Given the description of an element on the screen output the (x, y) to click on. 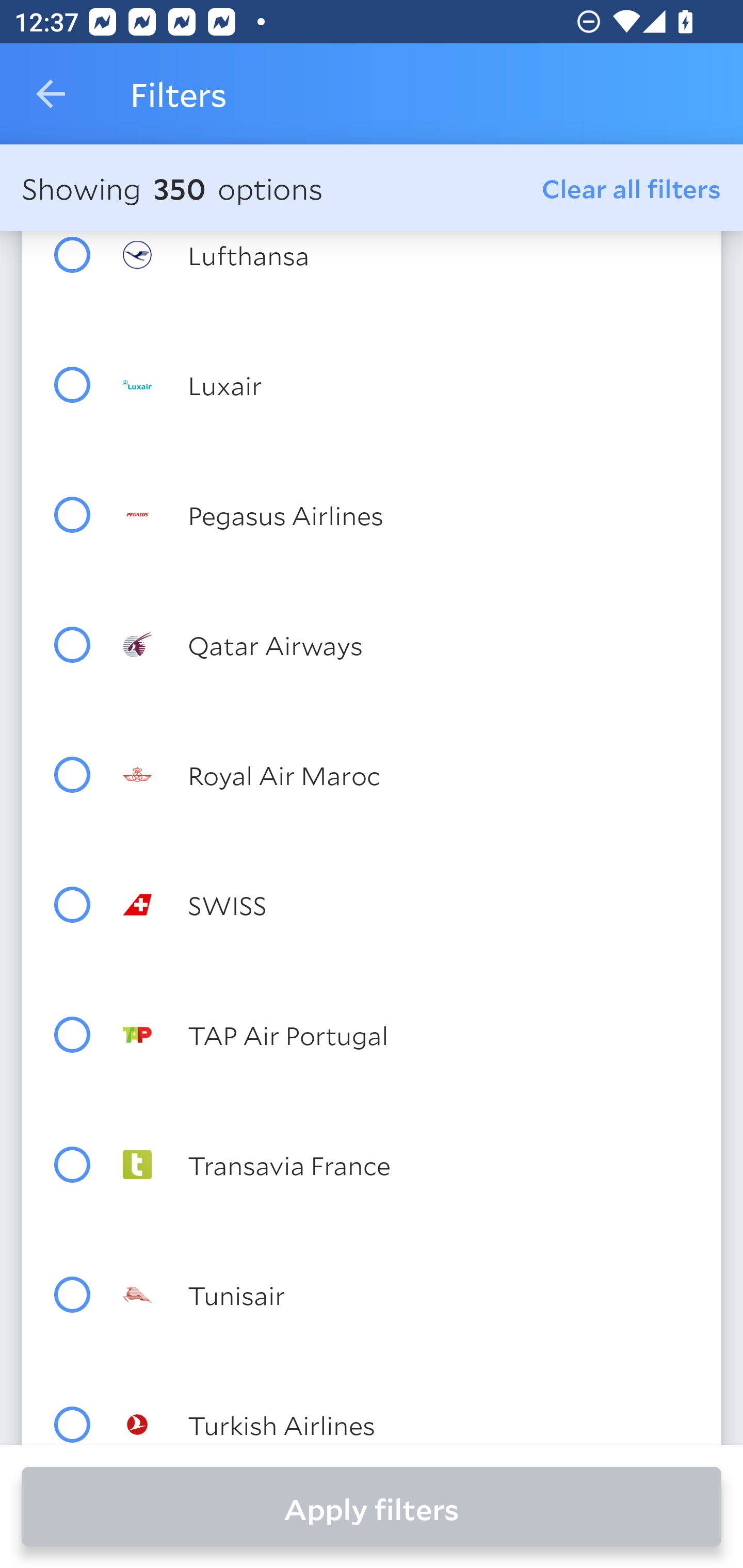
Navigate up (50, 93)
Clear all filters (631, 187)
Lufthansa (407, 254)
Luxair (407, 384)
Pegasus Airlines (407, 514)
Qatar Airways (407, 644)
Royal Air Maroc (407, 774)
SWISS (407, 904)
TAP Air Portugal (407, 1034)
Transavia France (407, 1164)
Tunisair (407, 1294)
Turkish Airlines (407, 1424)
Apply filters (371, 1506)
